Given the description of an element on the screen output the (x, y) to click on. 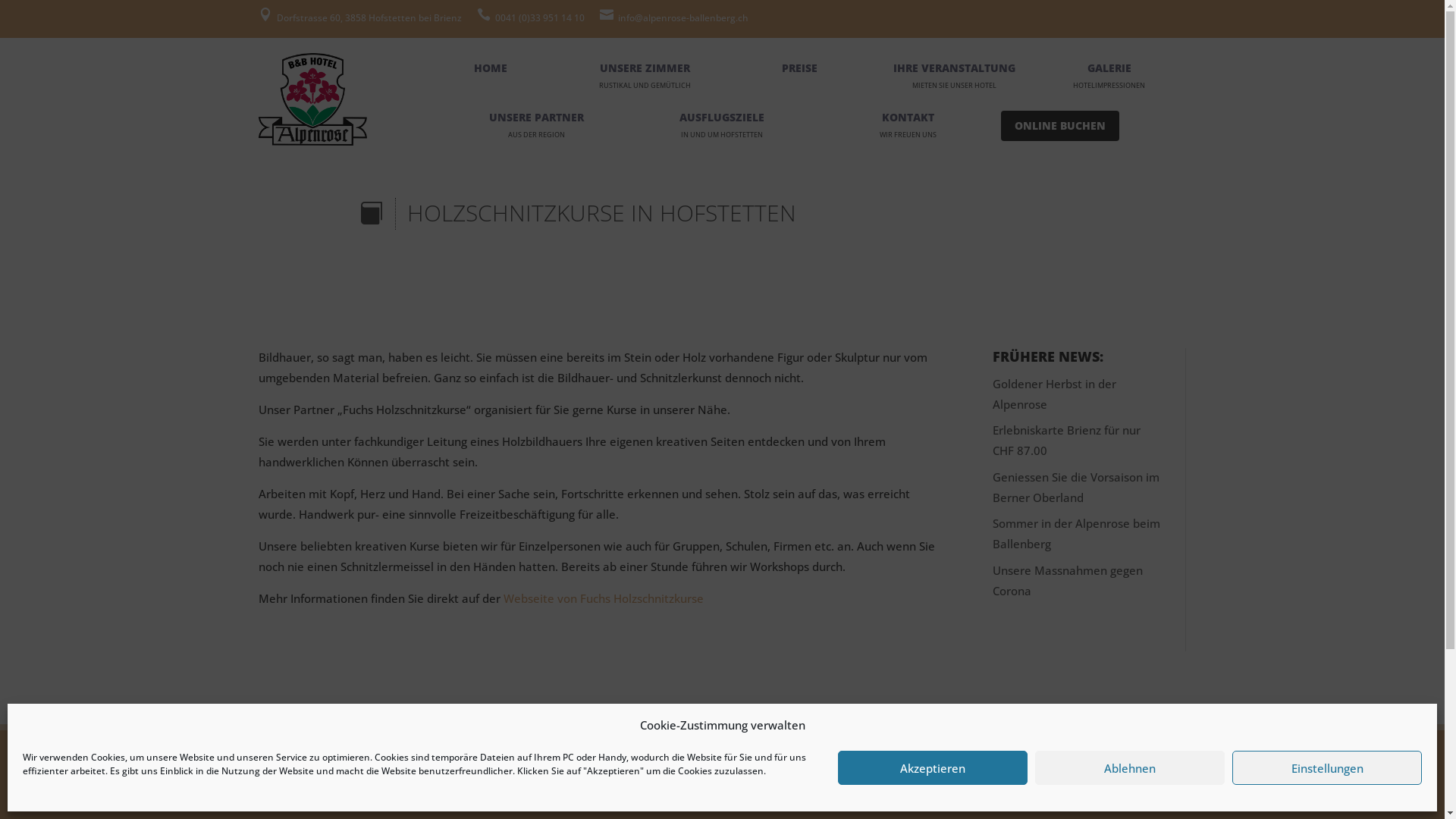
UNSERE ZIMMER Element type: text (644, 67)
IHRE VERANSTALTUNG Element type: text (954, 67)
KONTAKT Element type: text (907, 116)
Logo-BB-Hotel-Alpenrose-neu-optimiert Element type: hover (311, 99)
AUSFLUGSZIELE Element type: text (721, 116)
ONLINE BUCHEN Element type: text (1060, 125)
Goldener Herbst in der Alpenrose Element type: text (1054, 393)
PREISE Element type: text (799, 67)
Sommer in der Alpenrose beim Ballenberg Element type: text (1076, 533)
Geniessen Sie die Vorsaison im Berner Oberland Element type: text (1075, 487)
Unsere Massnahmen gegen Corona Element type: text (1067, 580)
Webseite von Fuchs Holzschnitzkurse Element type: text (603, 597)
Einstellungen Element type: text (1326, 767)
Akzeptieren Element type: text (932, 767)
UNSERE PARTNER Element type: text (536, 116)
GALERIE Element type: text (1109, 67)
Ablehnen Element type: text (1129, 767)
HOME Element type: text (489, 67)
